Given the description of an element on the screen output the (x, y) to click on. 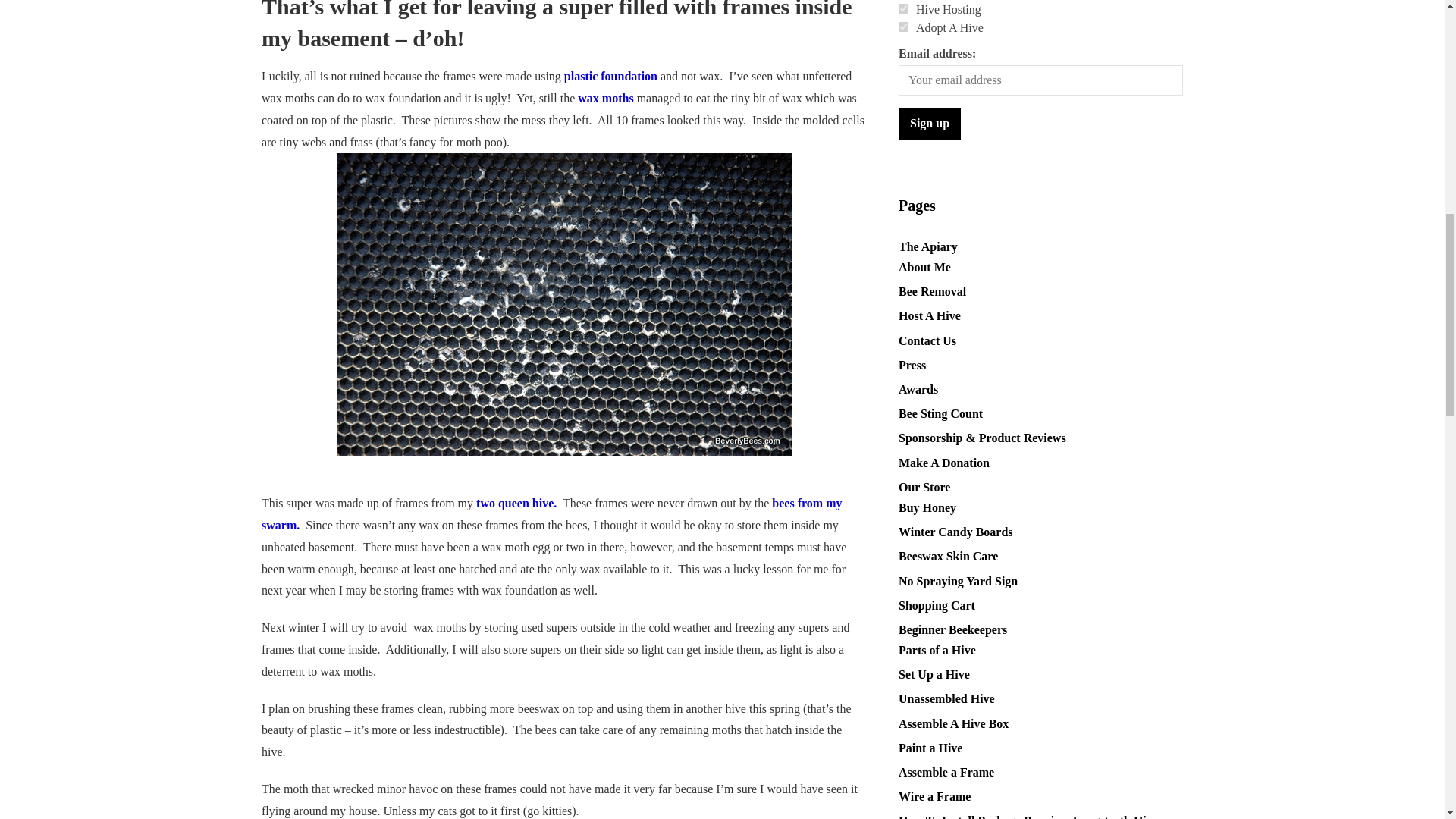
36273326e7 (903, 8)
5cf615e64d (903, 26)
Sign up (929, 123)
